Given the description of an element on the screen output the (x, y) to click on. 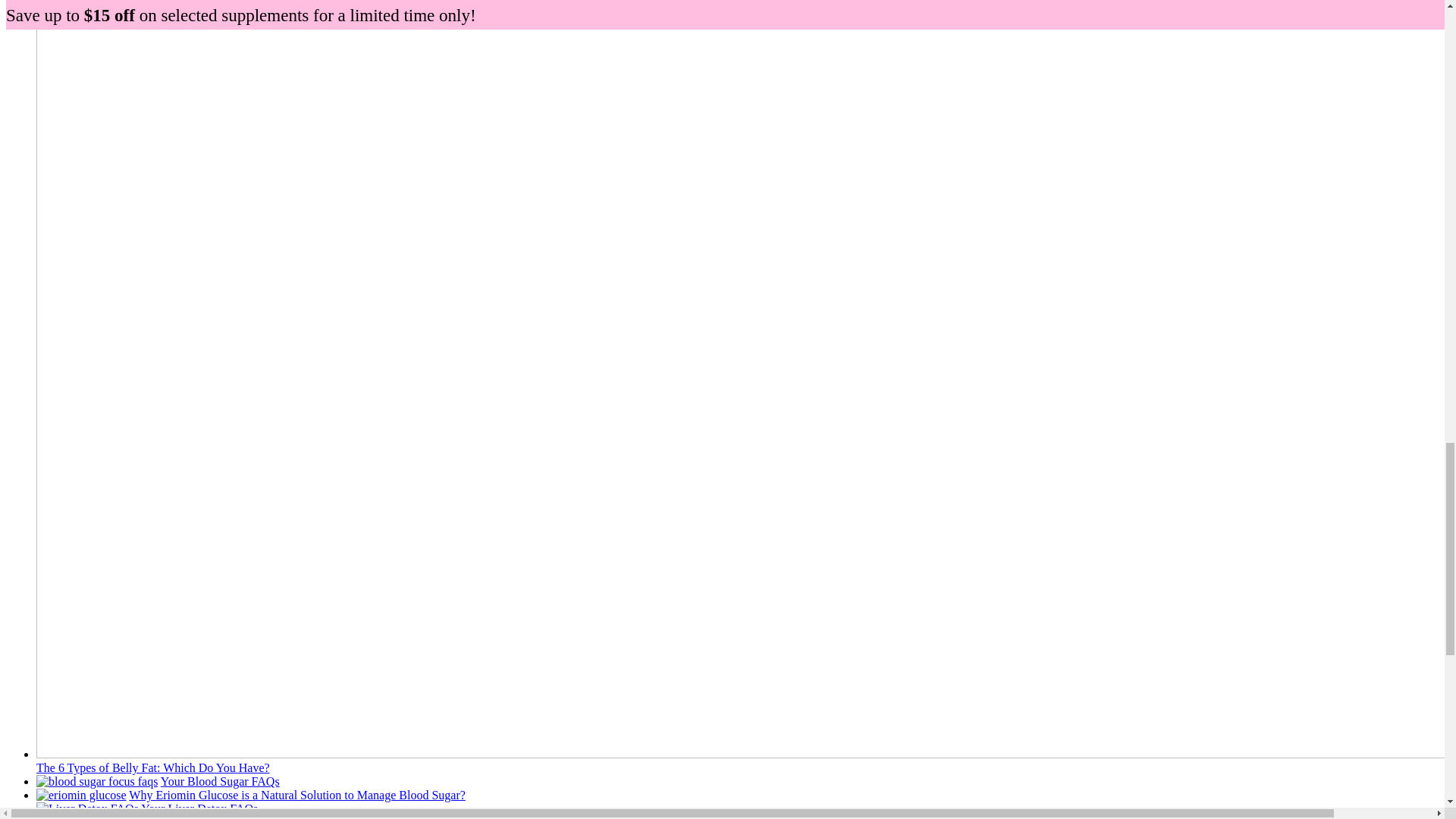
Your Liver Detox FAQs (199, 808)
Your Blood Sugar FAQs (219, 780)
The 6 Types of Belly Fat: Which Do You Have? (152, 767)
